Given the description of an element on the screen output the (x, y) to click on. 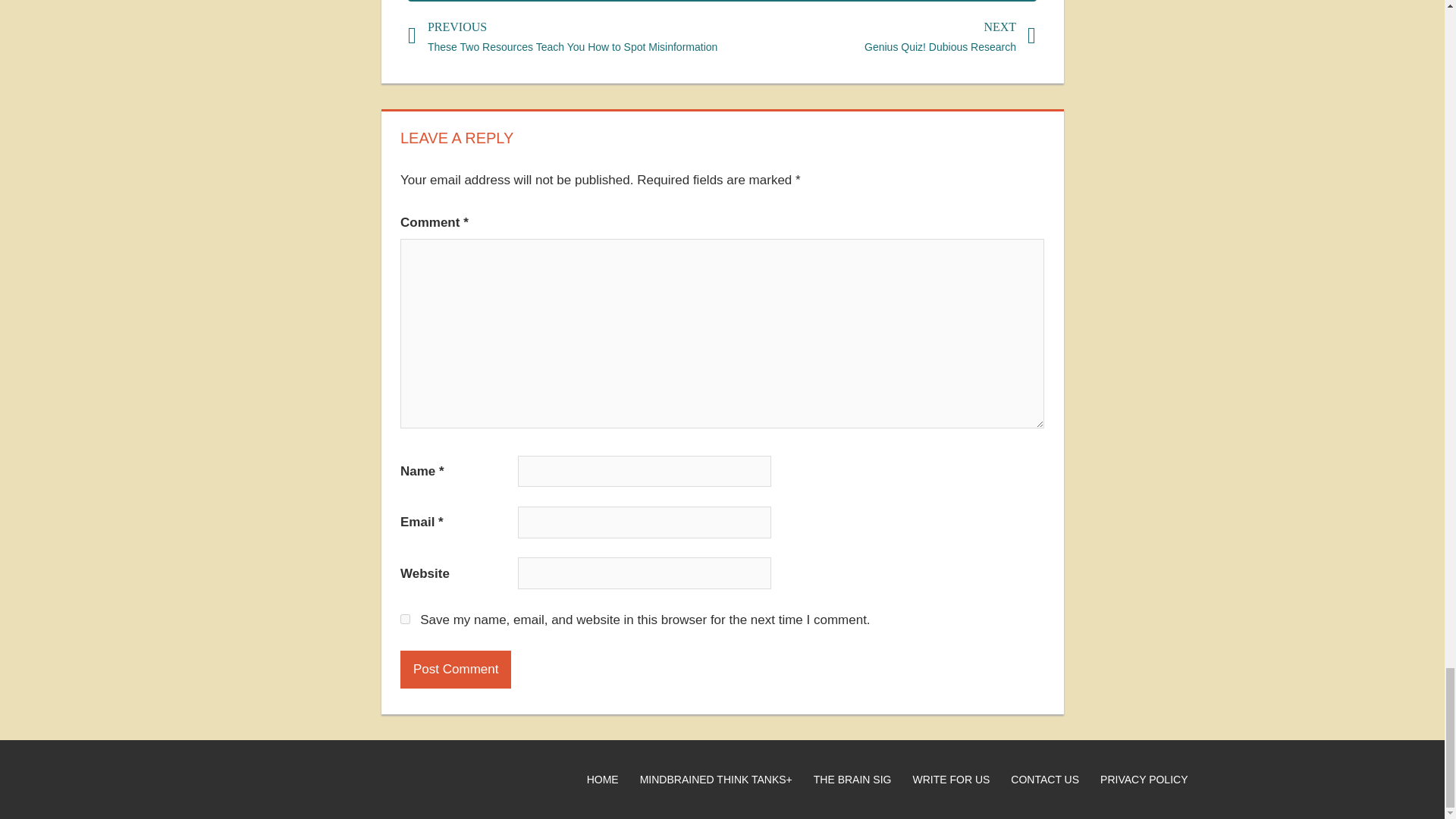
yes (405, 619)
Post Comment (455, 669)
